Given the description of an element on the screen output the (x, y) to click on. 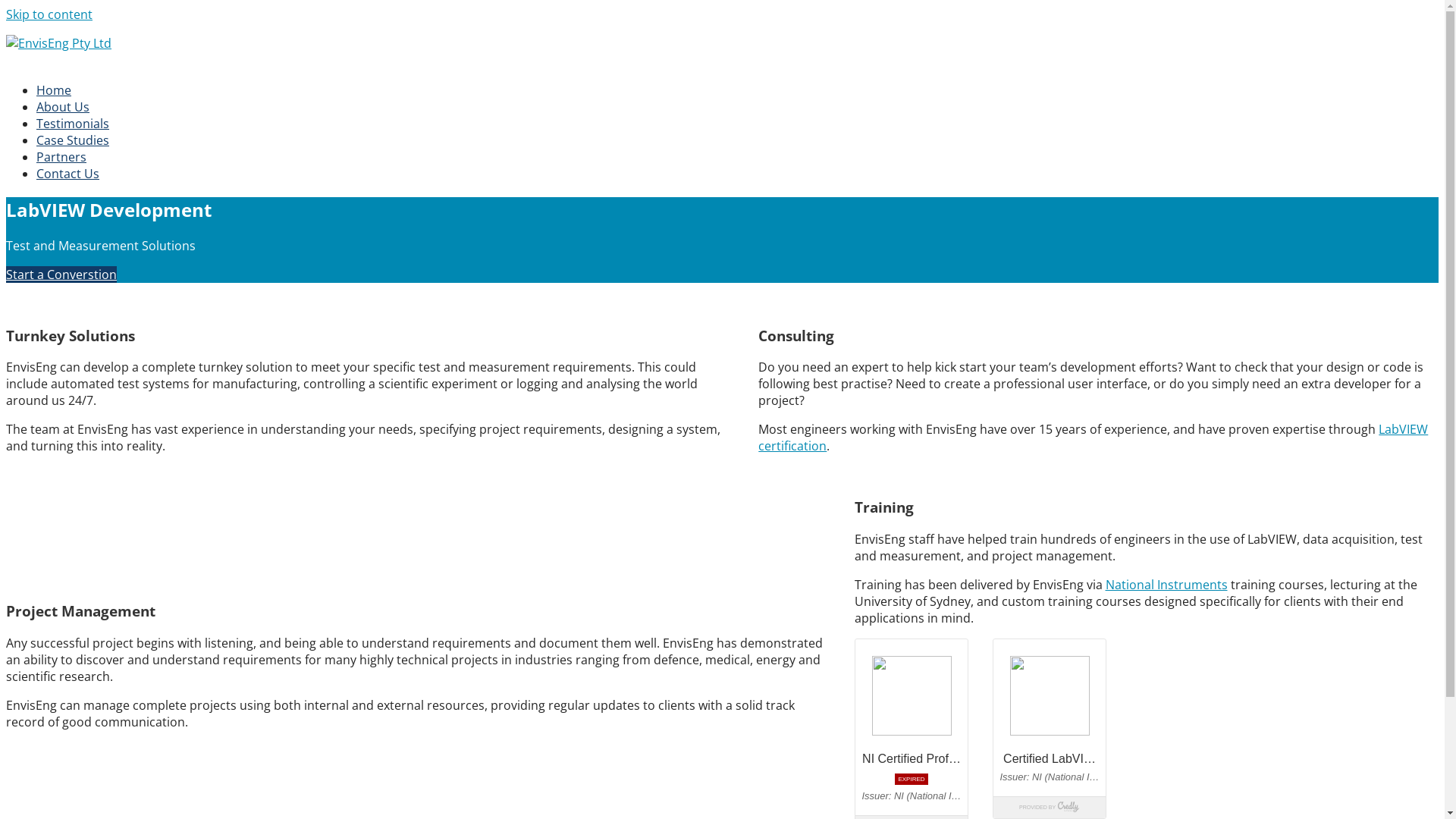
Case Studies Element type: text (72, 139)
Testimonials Element type: text (72, 123)
Start a Converstion Element type: text (61, 274)
LabVIEW certification Element type: text (1092, 437)
Partners Element type: text (61, 156)
Home Element type: text (53, 89)
Contact Us Element type: text (67, 173)
EnvisEng Pty Ltd Element type: text (52, 59)
About Us Element type: text (62, 106)
National Instruments Element type: text (1166, 584)
Skip to content Element type: text (49, 14)
